Given the description of an element on the screen output the (x, y) to click on. 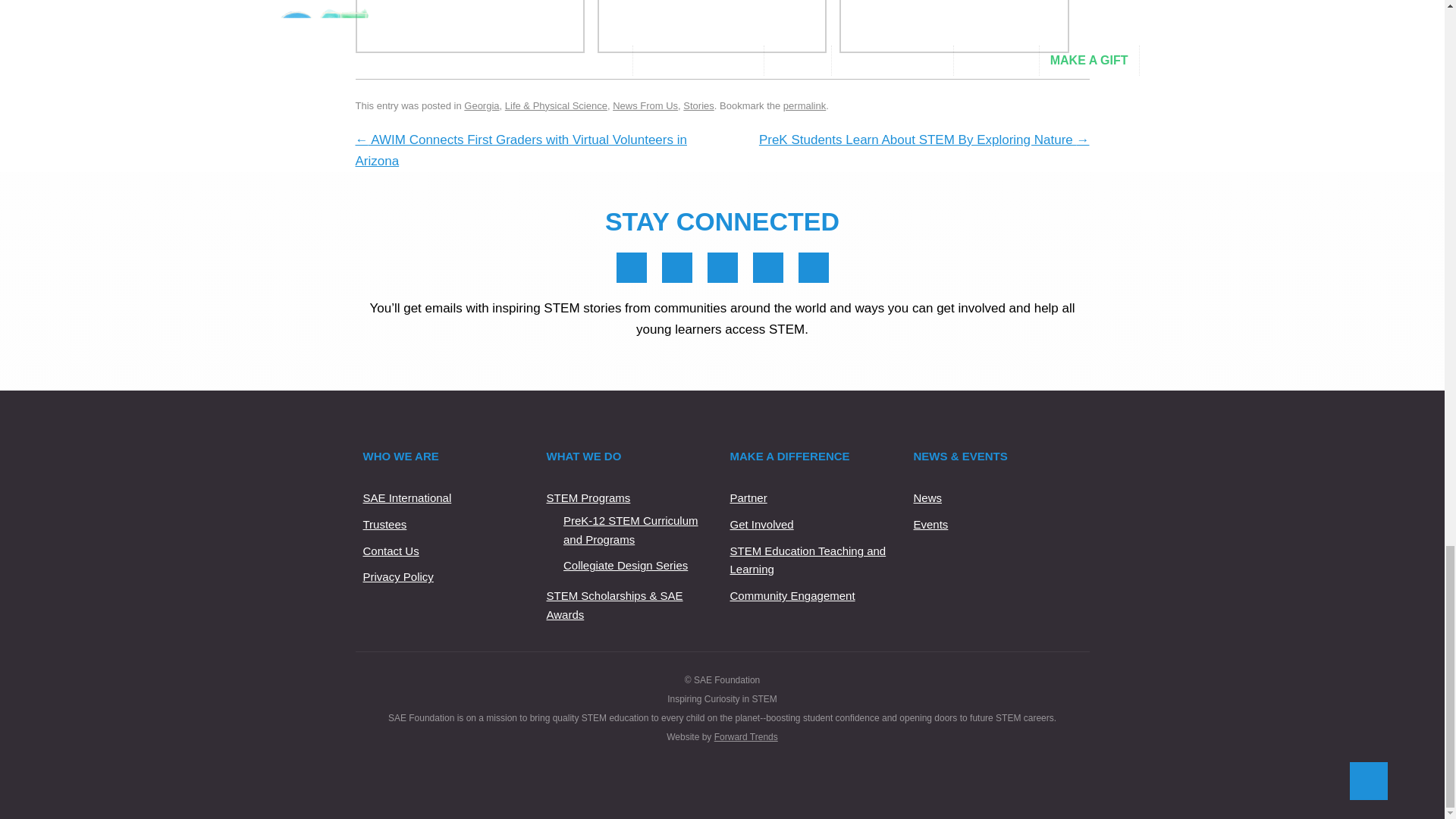
LinkedIn (676, 267)
Facebook (631, 267)
Permalink to Fifth Graders Compete in AWIM JetToy Challenge (804, 104)
Twitter (721, 267)
YouTube (767, 267)
Email Us (813, 267)
